Given the description of an element on the screen output the (x, y) to click on. 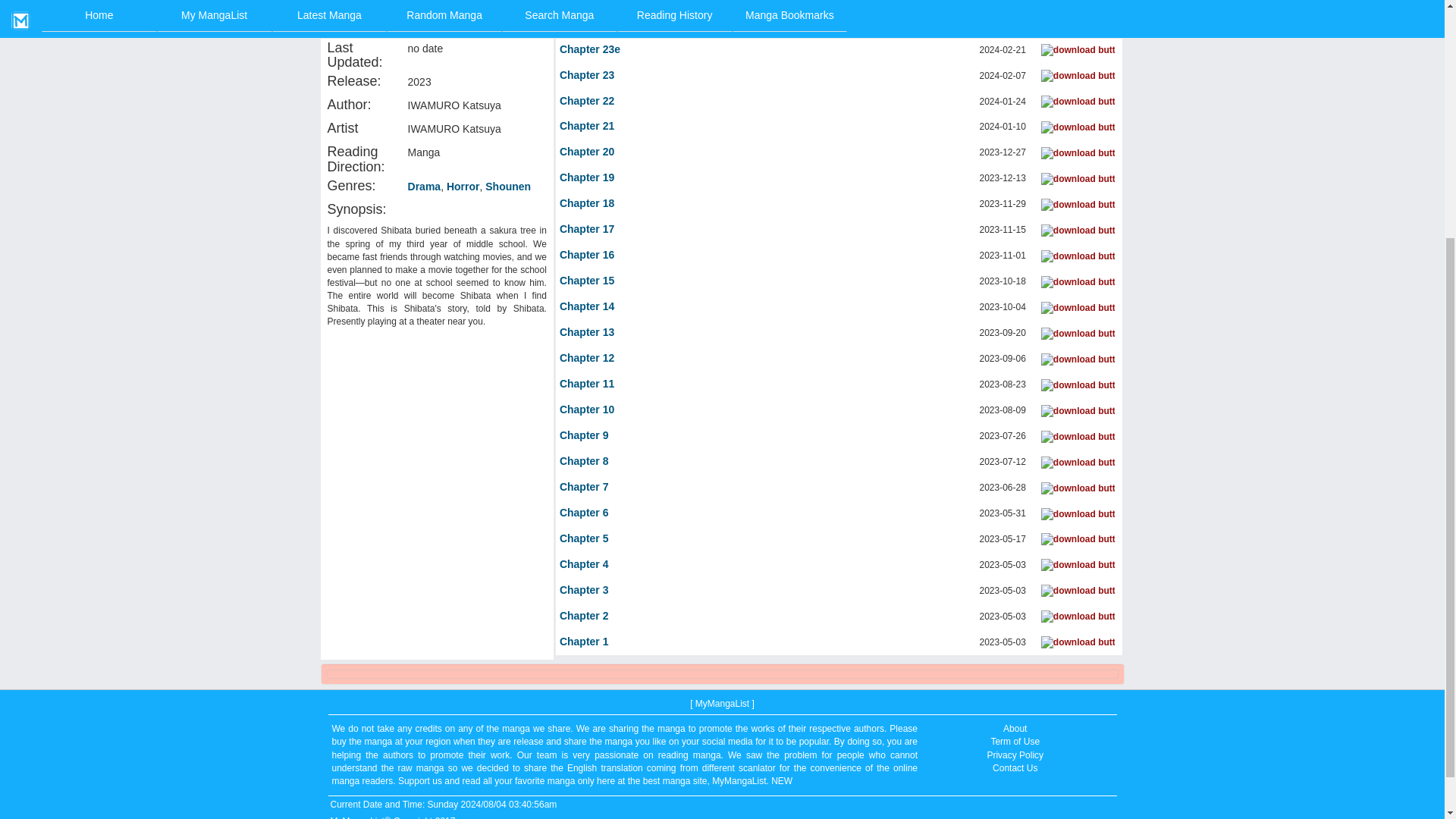
Drama (424, 186)
Chapter 22 (586, 101)
Horror (463, 186)
Chapter 23e (589, 49)
Chapter 21 (586, 126)
Chapter 23 (586, 75)
Chapter 24 (586, 23)
Chapter 25 (586, 2)
Shounen (507, 186)
Shibatarian (437, 2)
